Given the description of an element on the screen output the (x, y) to click on. 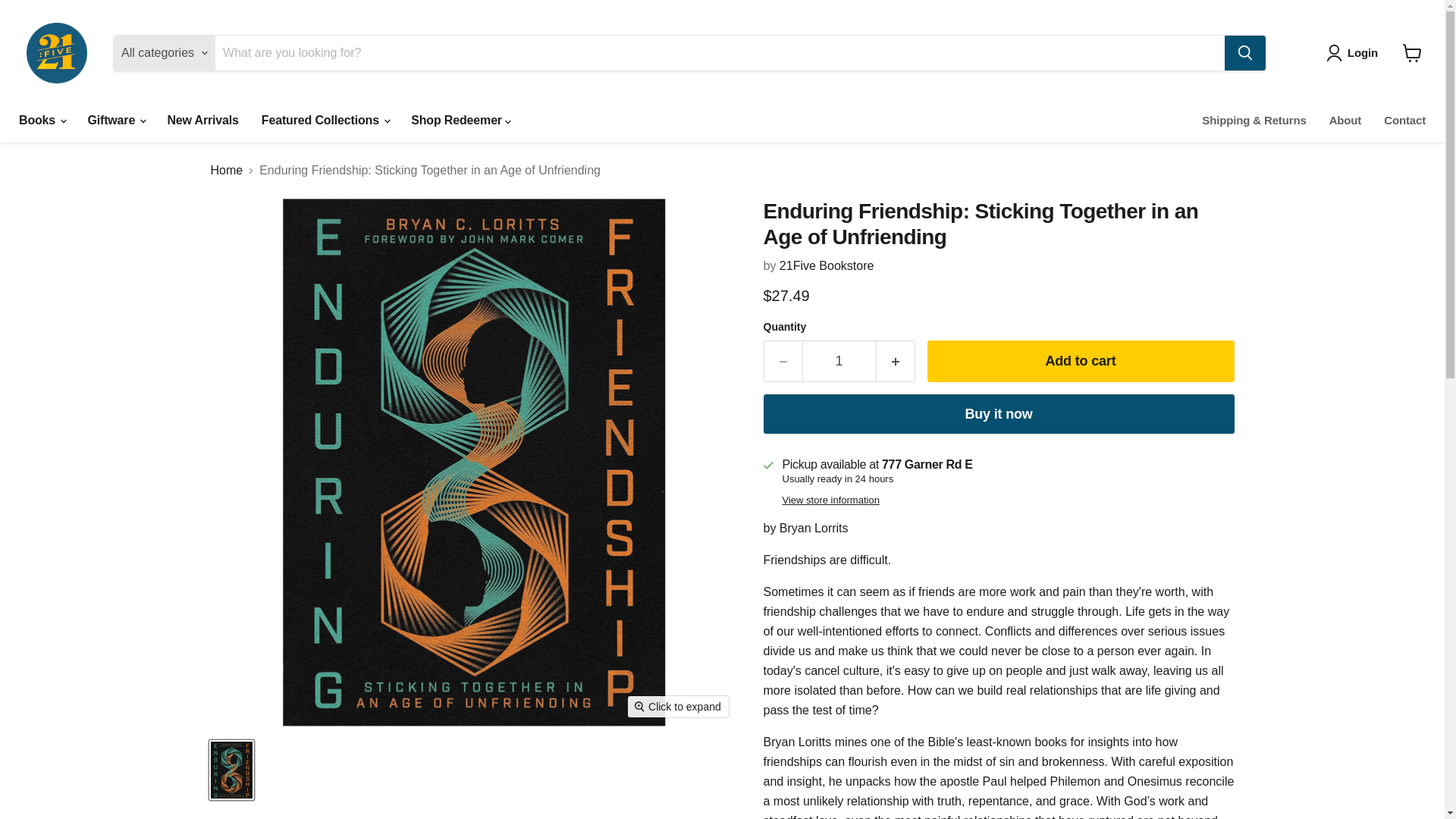
Login (1355, 53)
View cart (1411, 52)
21Five Bookstore (826, 265)
New Arrivals (201, 120)
1 (839, 361)
